Given the description of an element on the screen output the (x, y) to click on. 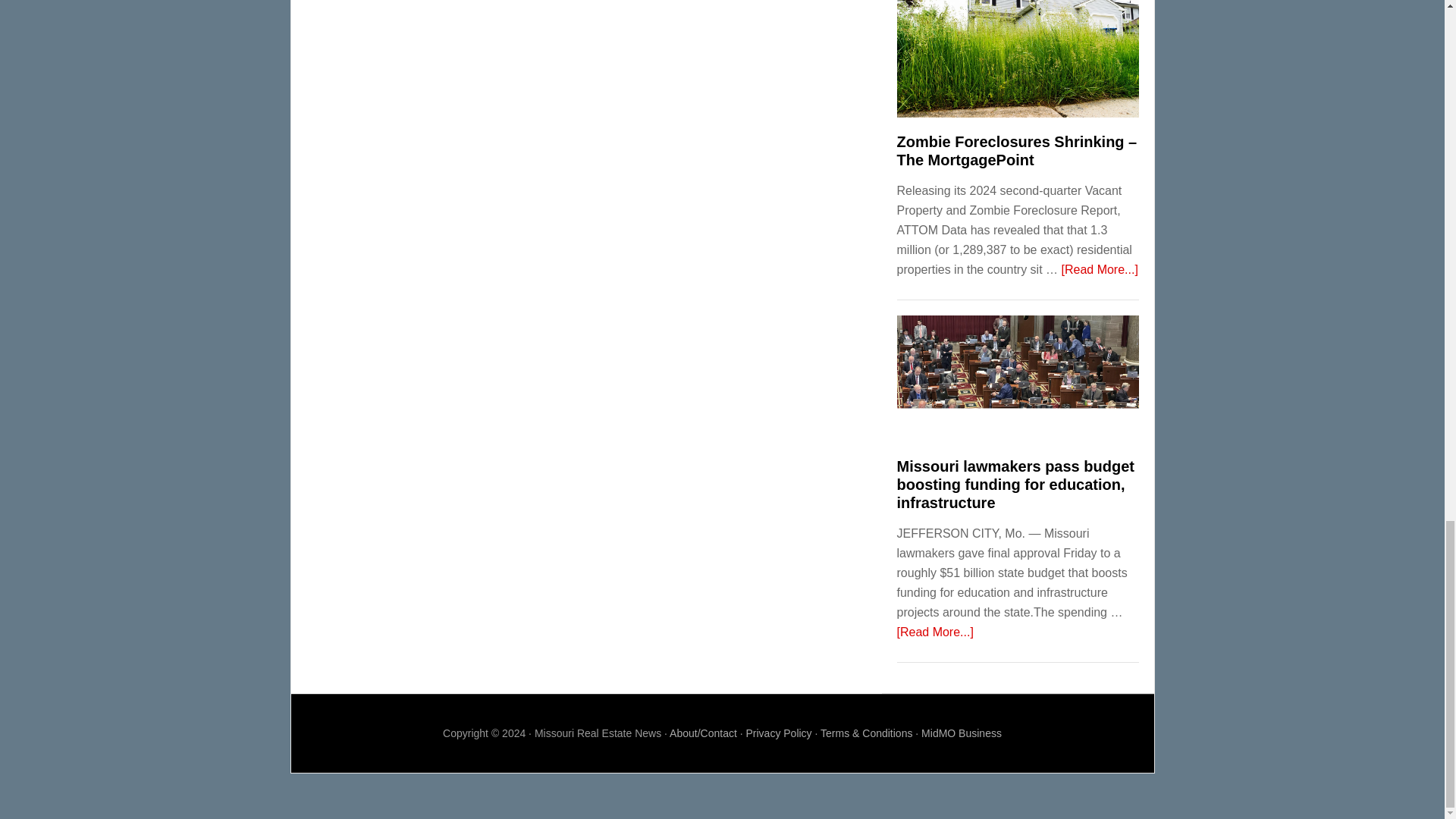
Privacy Policy (777, 733)
